Given the description of an element on the screen output the (x, y) to click on. 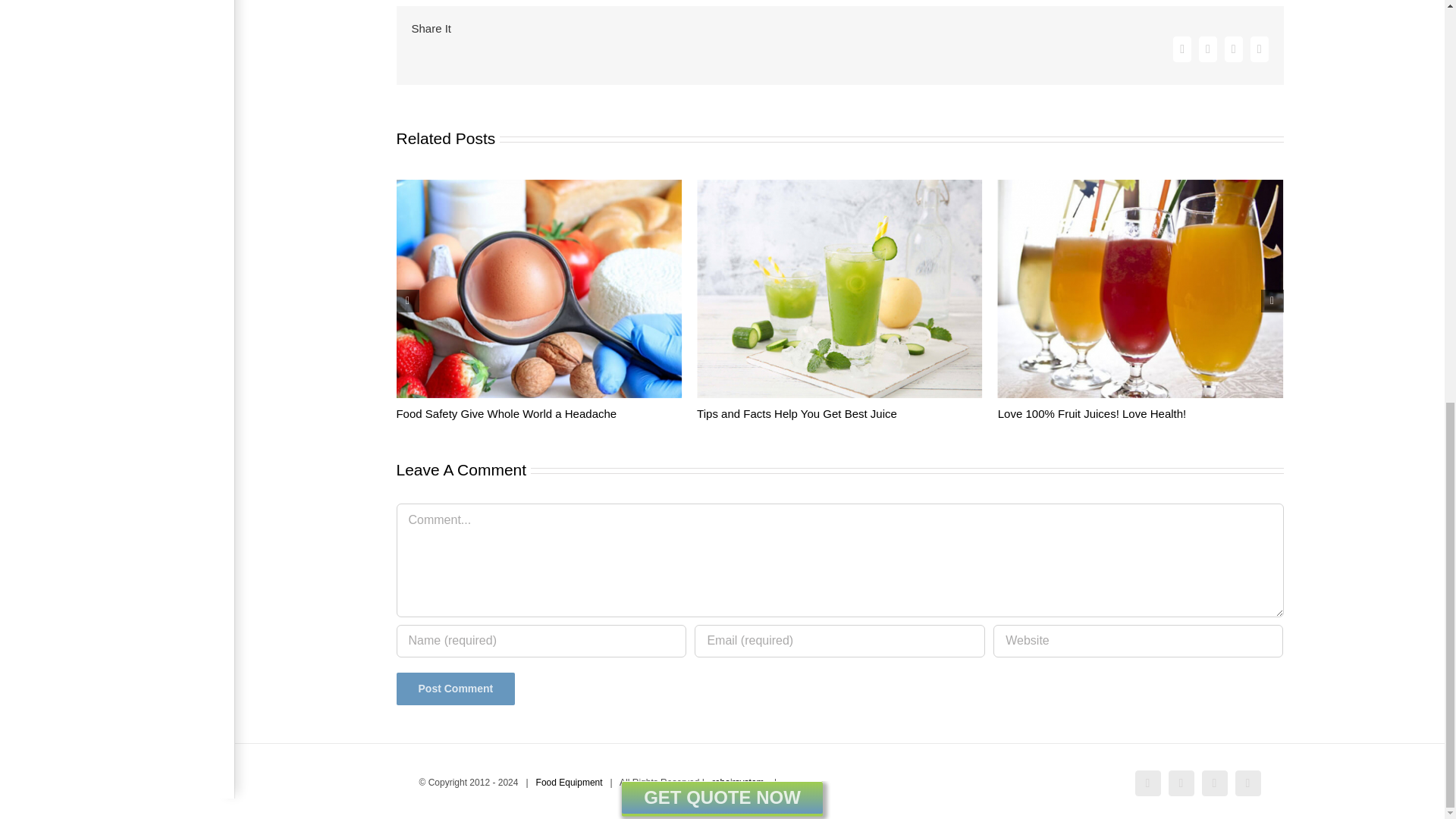
Food Safety Give Whole World a Headache (505, 413)
Tips and Facts Help You Get Best Juice (796, 413)
Post Comment (455, 688)
